Given the description of an element on the screen output the (x, y) to click on. 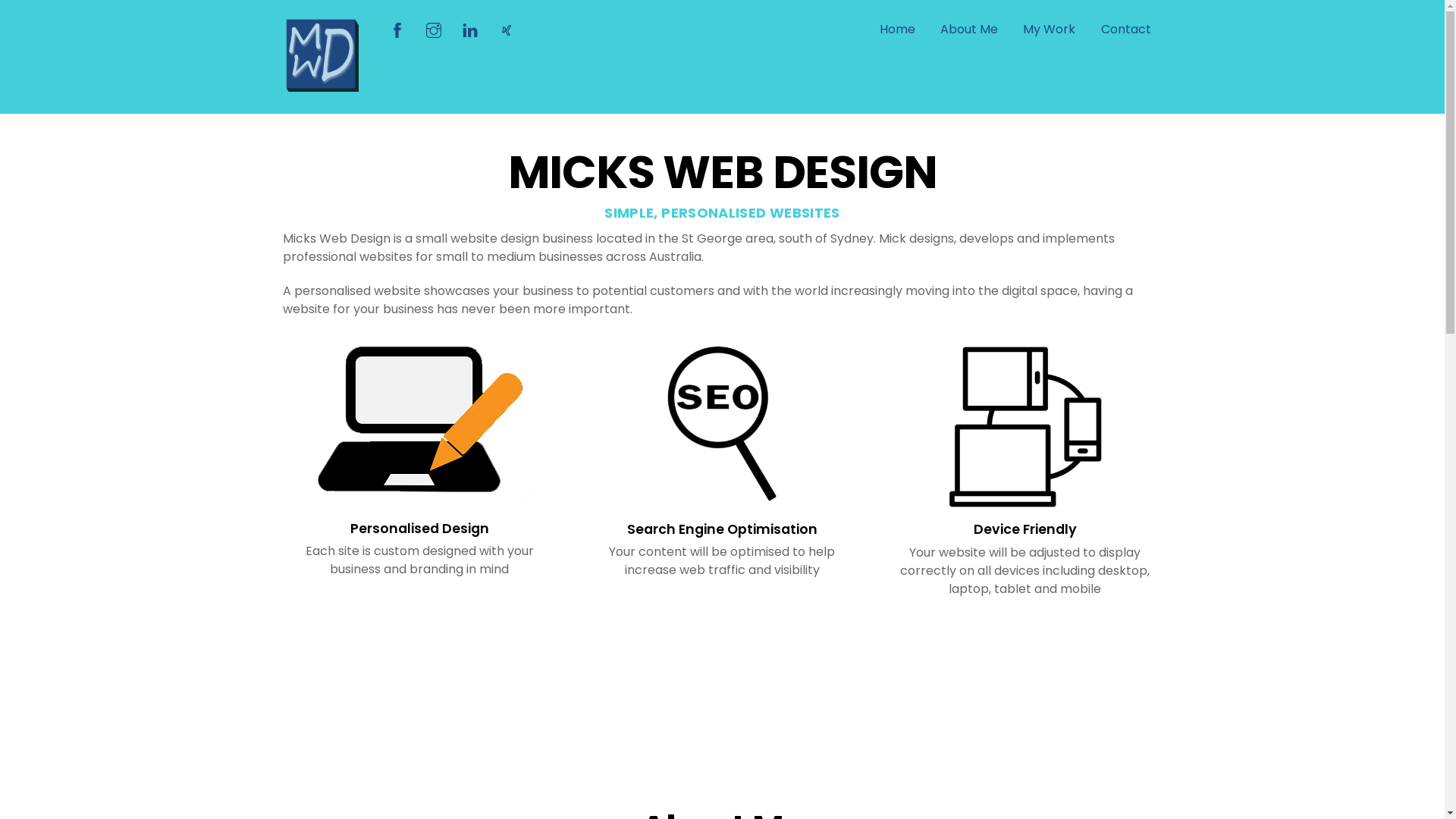
Contact Element type: text (1125, 29)
Micks Web Design Element type: hover (319, 84)
My Work Element type: text (1048, 29)
About Me Element type: text (968, 29)
Personalised Design Element type: hover (419, 419)
Device Friendly Element type: hover (1025, 426)
Home Element type: text (897, 29)
Search Engine Optimisation Element type: hover (721, 423)
Micks Web Design logo Element type: hover (319, 53)
